Given the description of an element on the screen output the (x, y) to click on. 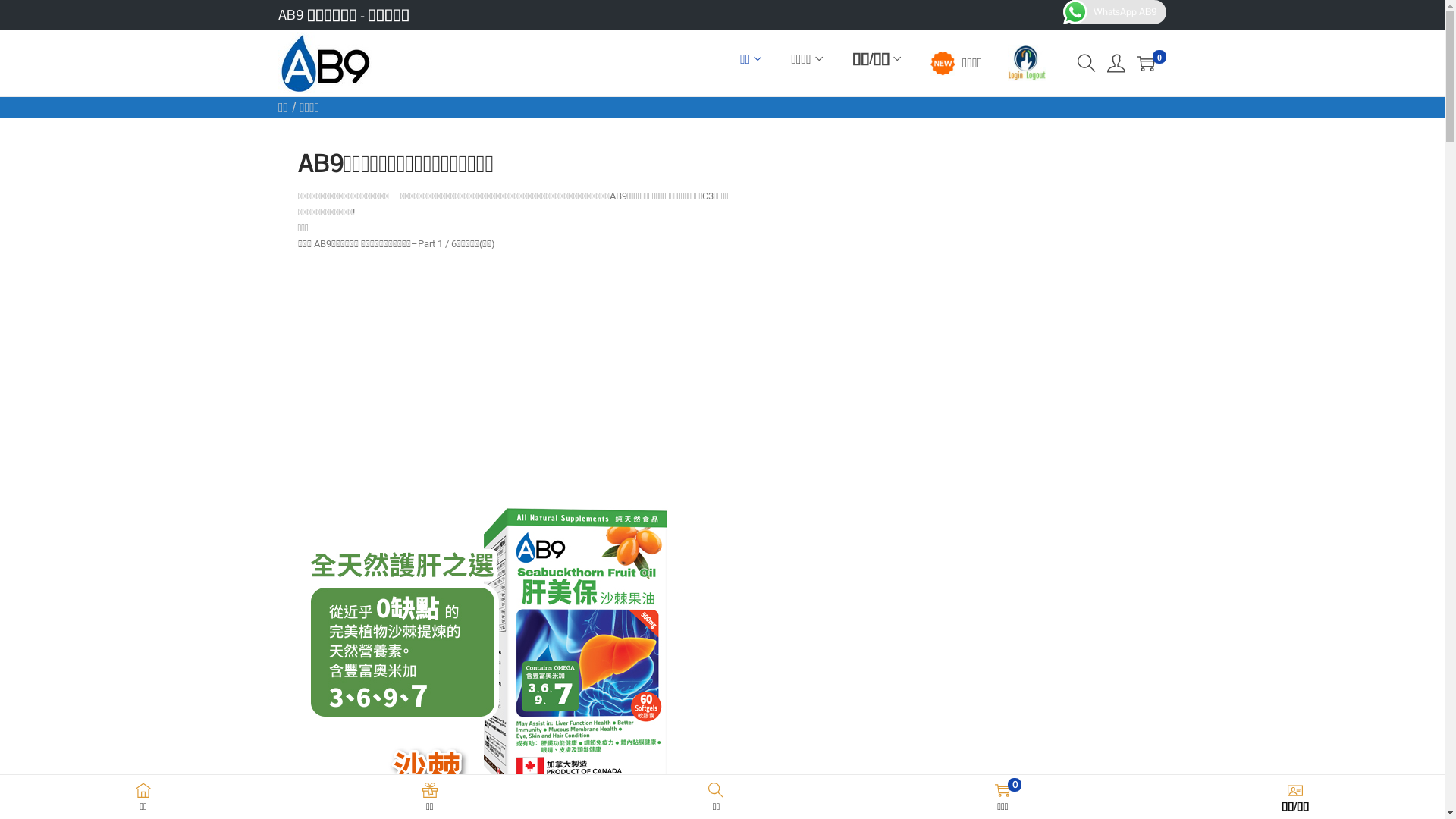
0 Element type: text (1145, 63)
